Given the description of an element on the screen output the (x, y) to click on. 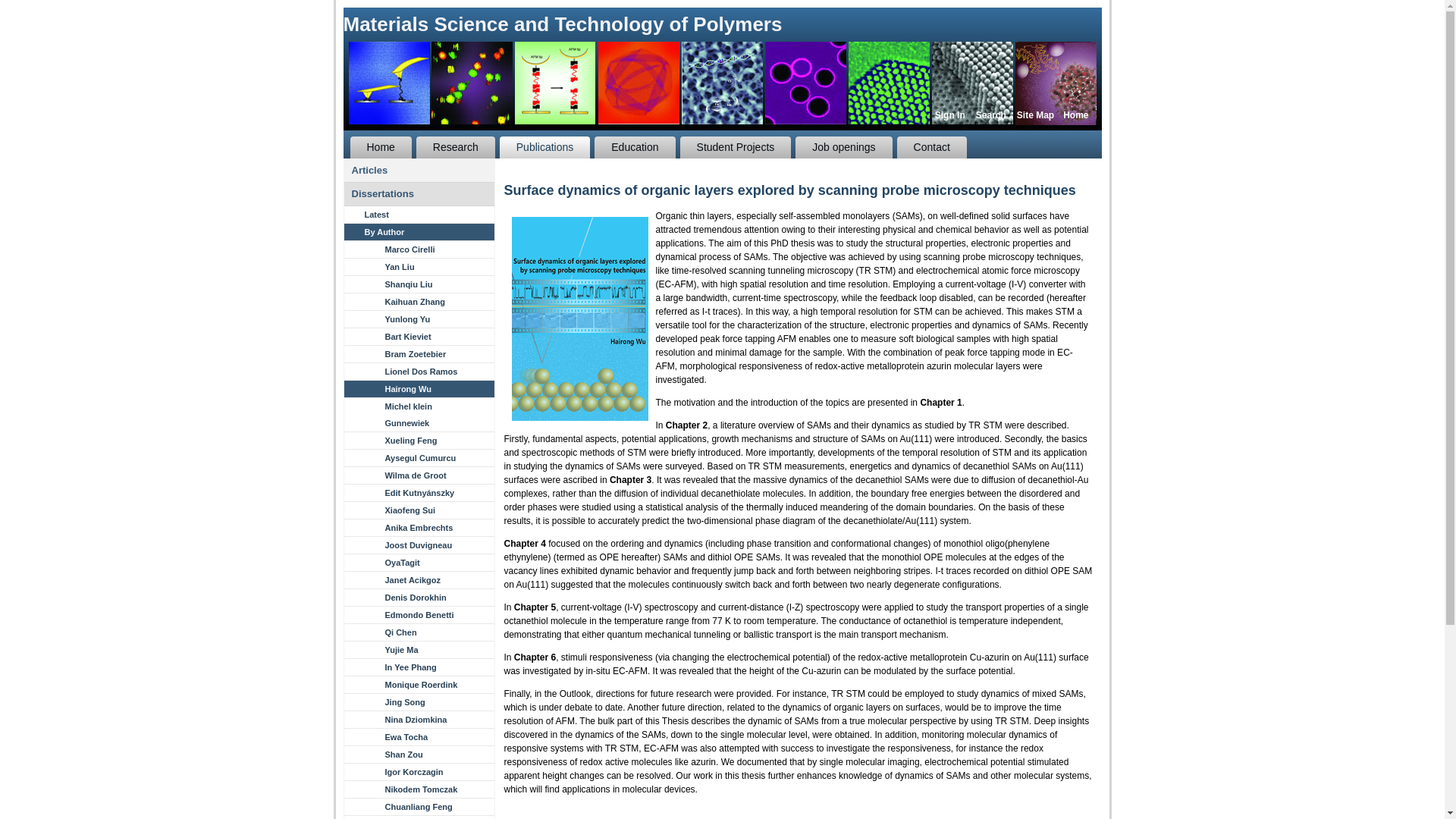
Home (1074, 114)
Home (381, 147)
Search (990, 114)
Materials Science and Technology of Polymers (561, 24)
Site Map (1035, 114)
Sign In (949, 114)
